Given the description of an element on the screen output the (x, y) to click on. 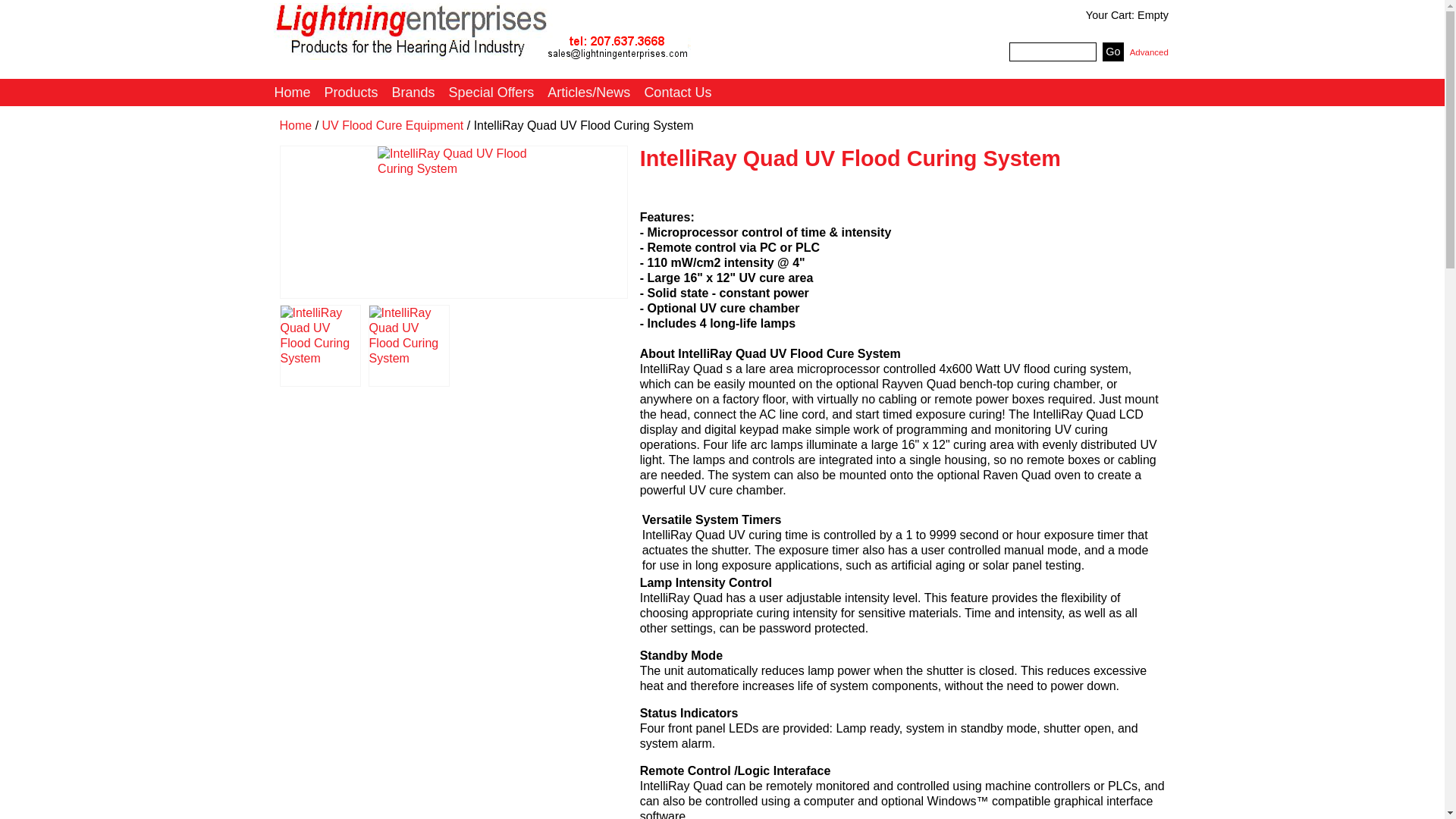
Go (1113, 51)
Home (291, 92)
Home (497, 31)
Advanced (1149, 51)
Go (1113, 51)
Search (993, 51)
Products (351, 92)
Home (295, 124)
Products (351, 92)
UV Flood Cure Equipment (392, 124)
